Given the description of an element on the screen output the (x, y) to click on. 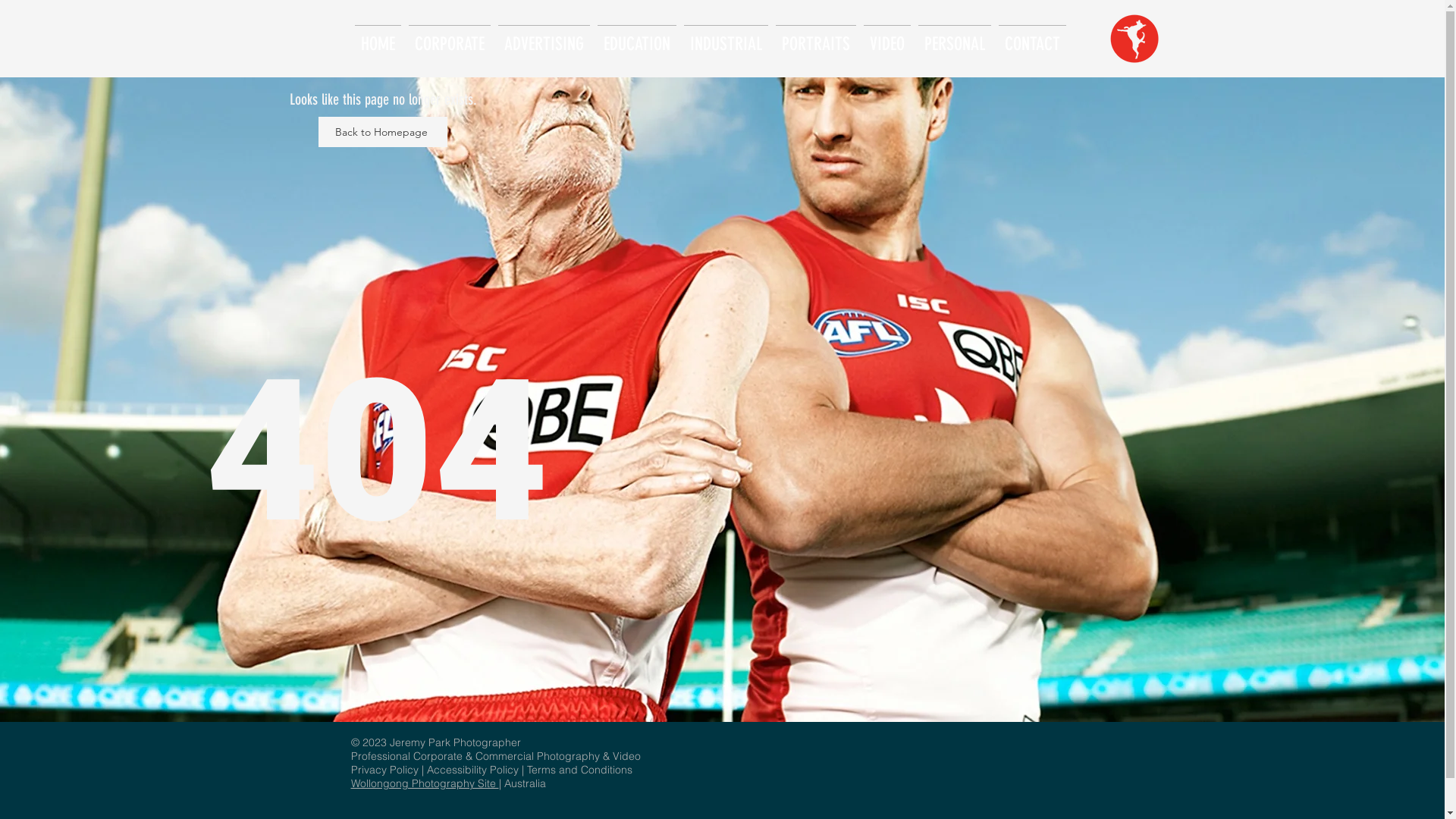
EDUCATION Element type: text (636, 37)
Jeremy Park Element type: text (421, 742)
Wollongong Photography Site Element type: text (424, 783)
PERSONAL Element type: text (954, 37)
HOME Element type: text (377, 37)
INDUSTRIAL Element type: text (725, 37)
VIDEO Element type: text (886, 37)
Back to Homepage Element type: text (382, 131)
Accessibility Policy Element type: text (471, 769)
Privacy Policy Element type: text (385, 769)
CORPORATE Element type: text (449, 37)
PORTRAITS Element type: text (815, 37)
ADVERTISING Element type: text (543, 37)
CONTACT Element type: text (1032, 37)
Terms and Conditions Element type: text (578, 769)
